Given the description of an element on the screen output the (x, y) to click on. 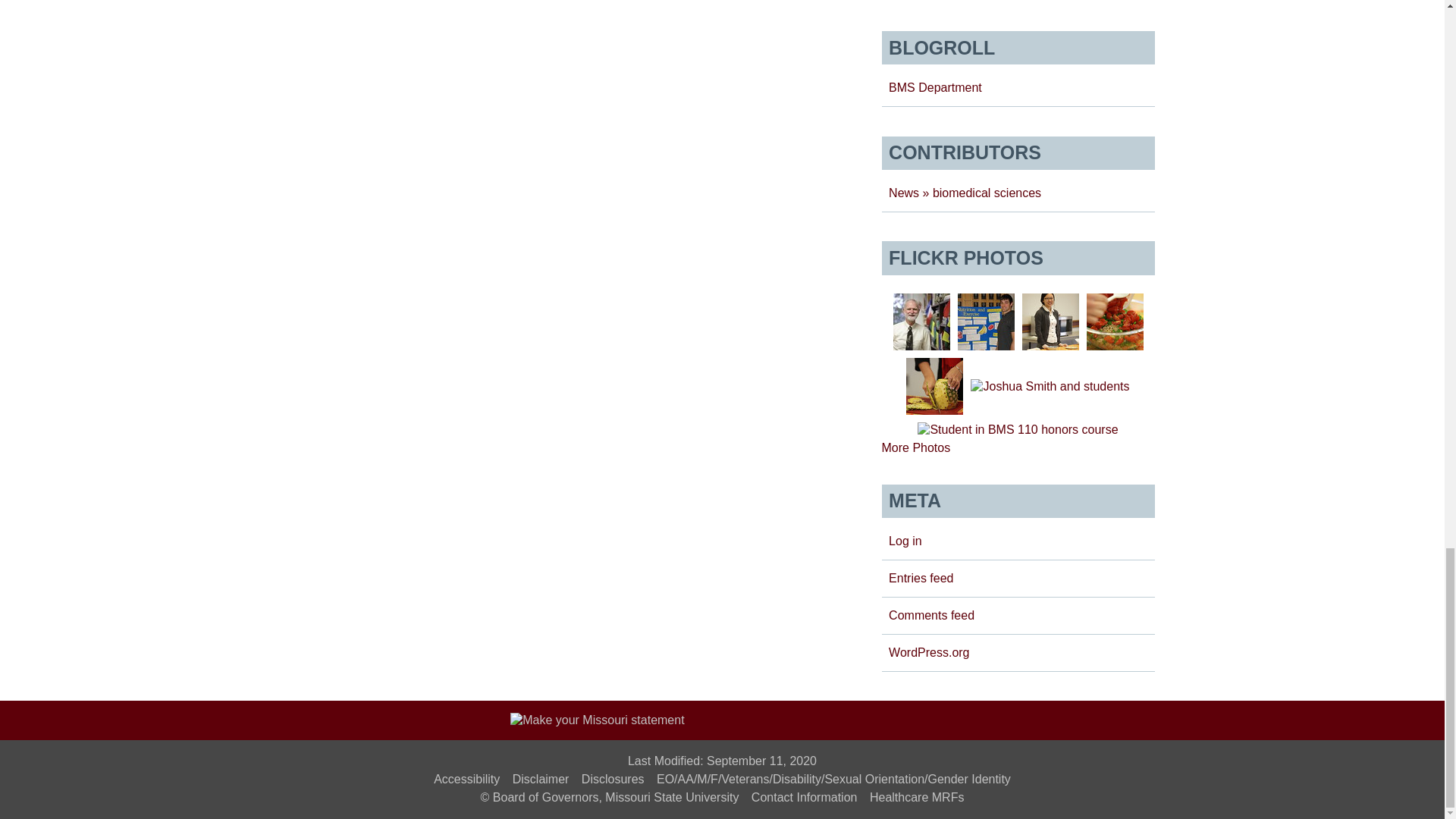
health fair 013 (984, 321)
Student in BMS 110 honors course (1017, 429)
Joshua Smith and students (1050, 386)
14190 5464 (1114, 321)
Biomedical Sciences Dept Website (934, 87)
14190 5321 (933, 385)
DrChrisField (921, 321)
14190 5493 (1050, 321)
